Given the description of an element on the screen output the (x, y) to click on. 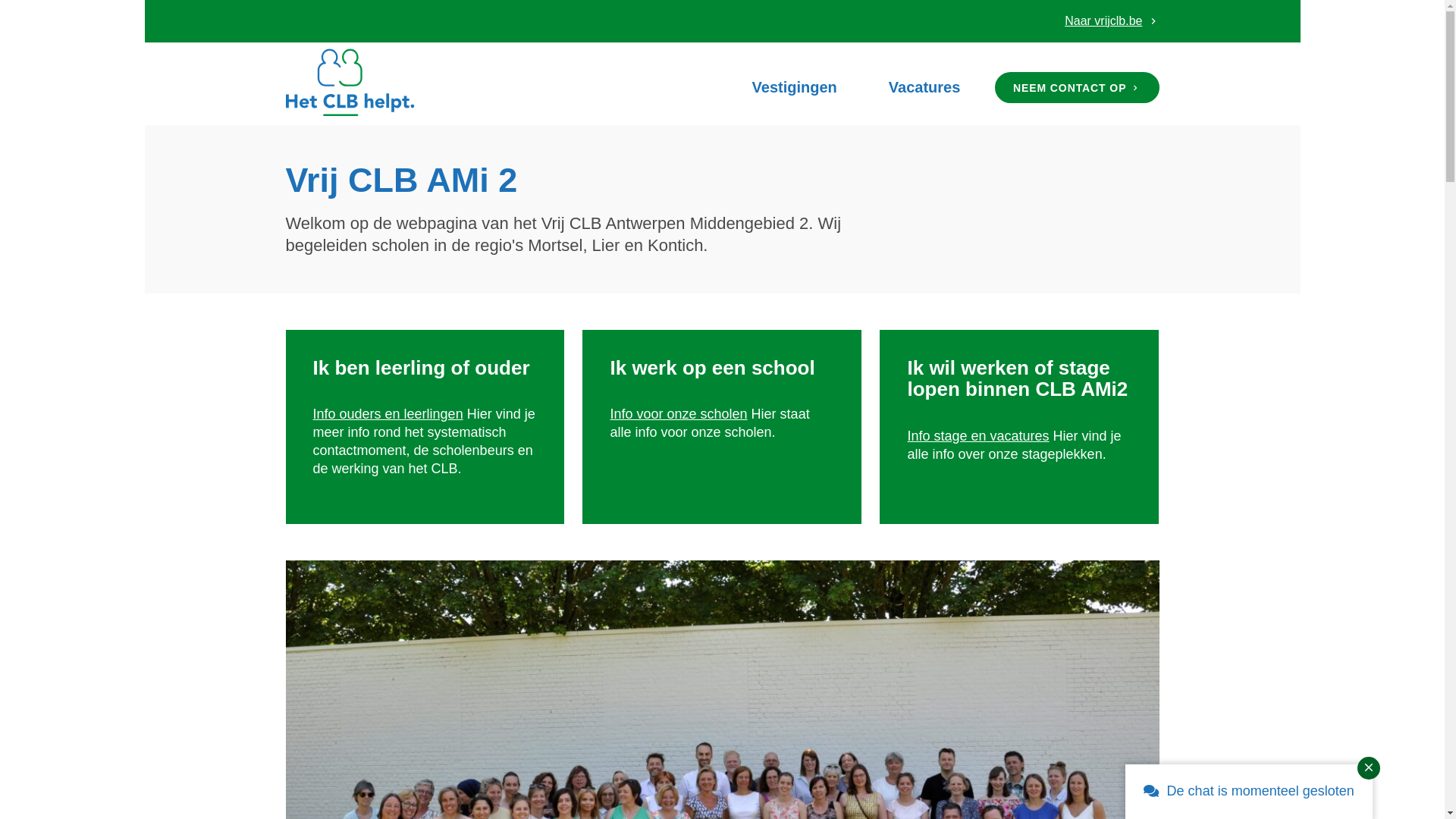
Vestigingen Element type: text (794, 87)
Vacatures Element type: text (924, 87)
NEEM CONTACT OP Element type: text (1076, 87)
Info voor onze scholen Element type: text (677, 413)
Info stage en vacatures Element type: text (977, 435)
Naar vrijclb.be Element type: text (1111, 21)
Info ouders en leerlingen Element type: text (387, 413)
